Given the description of an element on the screen output the (x, y) to click on. 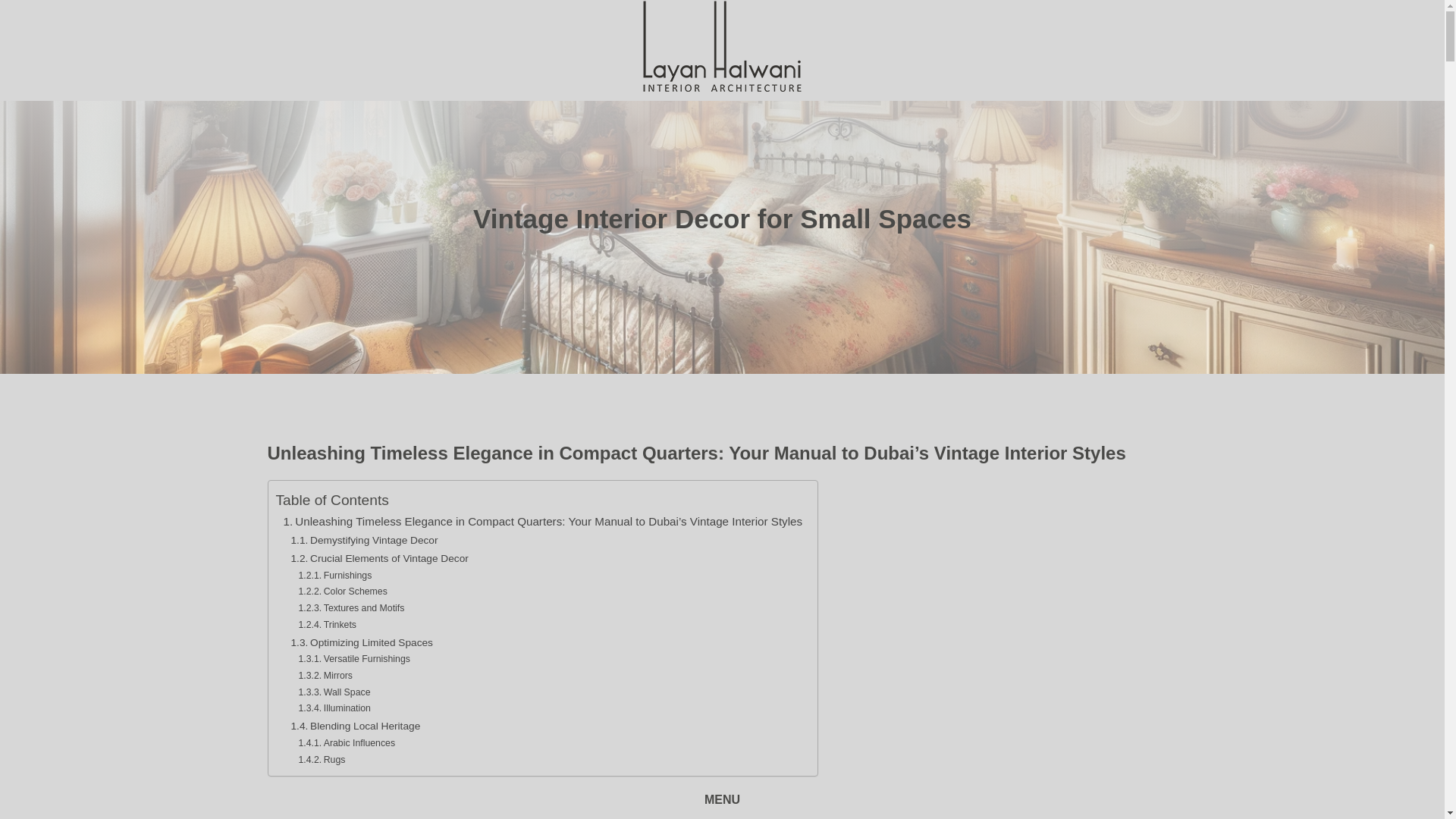
Furnishings (335, 576)
Trinkets (327, 625)
Illumination (334, 709)
Wall Space (334, 692)
Crucial Elements of Vintage Decor (379, 558)
Illumination (334, 709)
Furnishings (335, 576)
Textures and Motifs (351, 608)
Trinkets (327, 625)
Demystifying Vintage Decor (364, 540)
Color Schemes (342, 591)
Textures and Motifs (351, 608)
Mirrors (325, 676)
MENU (721, 799)
Arabic Influences (347, 743)
